Given the description of an element on the screen output the (x, y) to click on. 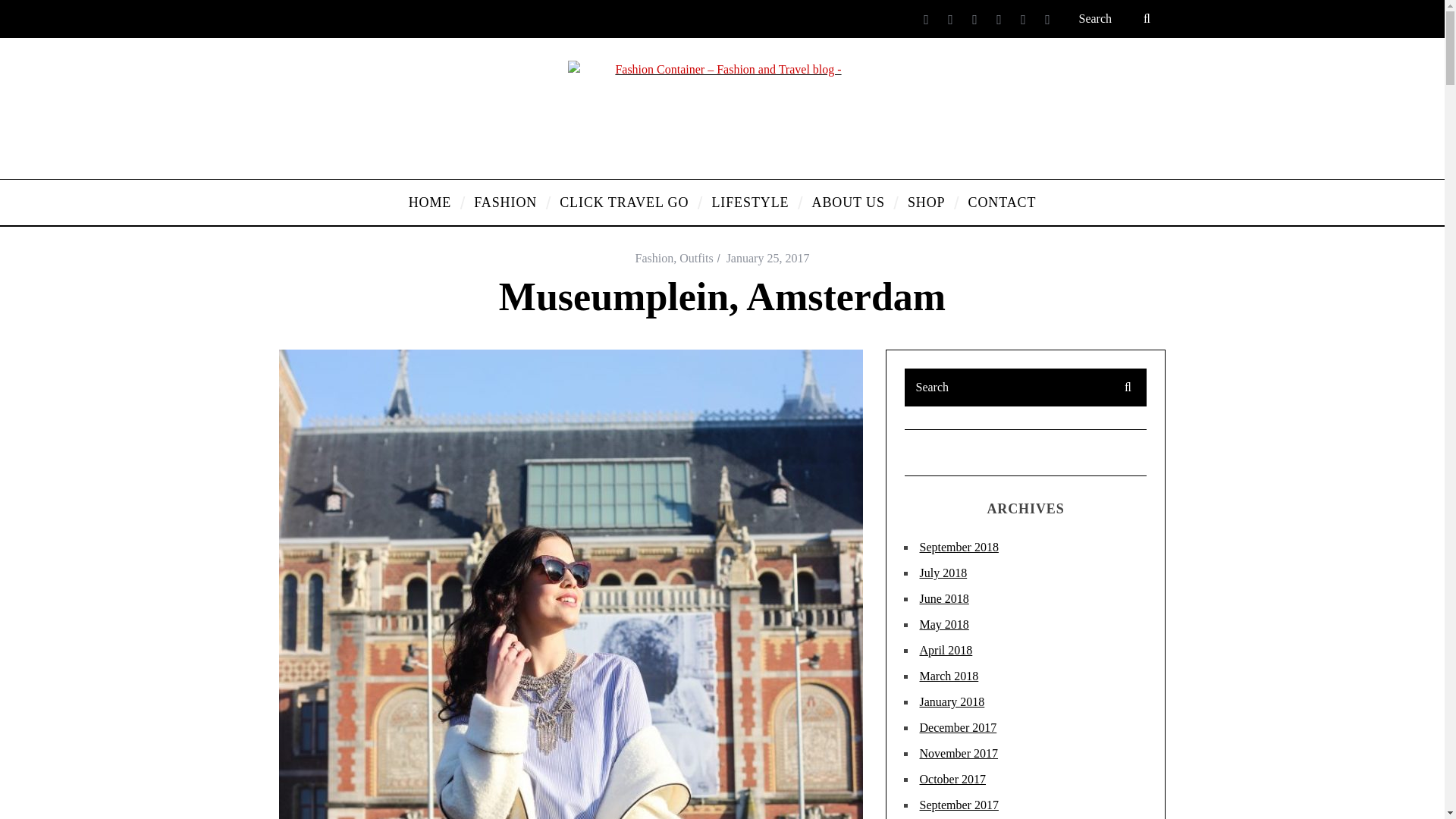
Fashion (654, 257)
CONTACT (1002, 202)
Search (1116, 18)
LIFESTYLE (749, 202)
Search (1025, 387)
Outfits (696, 257)
ABOUT US (848, 202)
SHOP (926, 202)
